Given the description of an element on the screen output the (x, y) to click on. 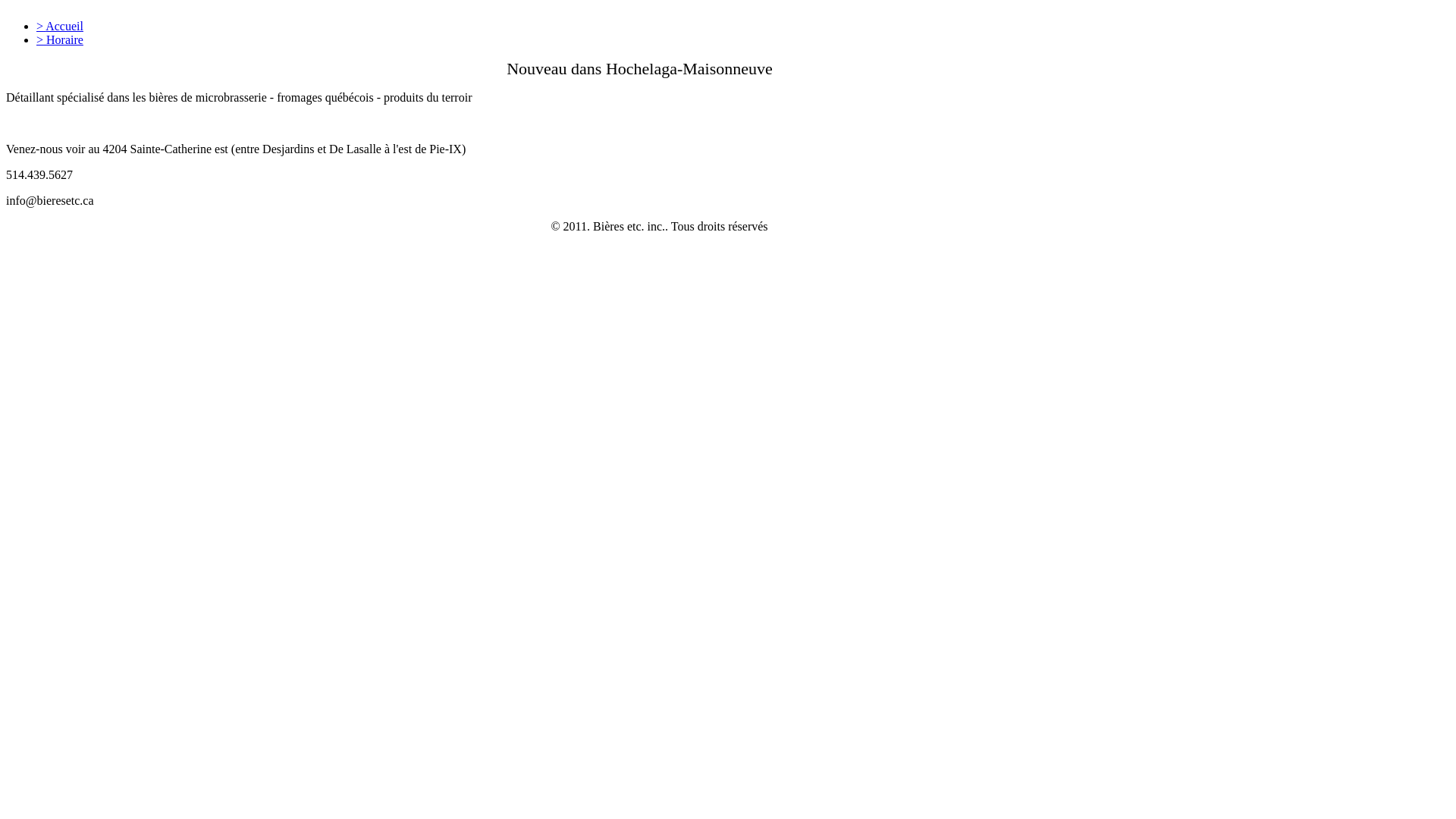
> Accueil Element type: text (59, 25)
> Horaire Element type: text (59, 39)
